Given the description of an element on the screen output the (x, y) to click on. 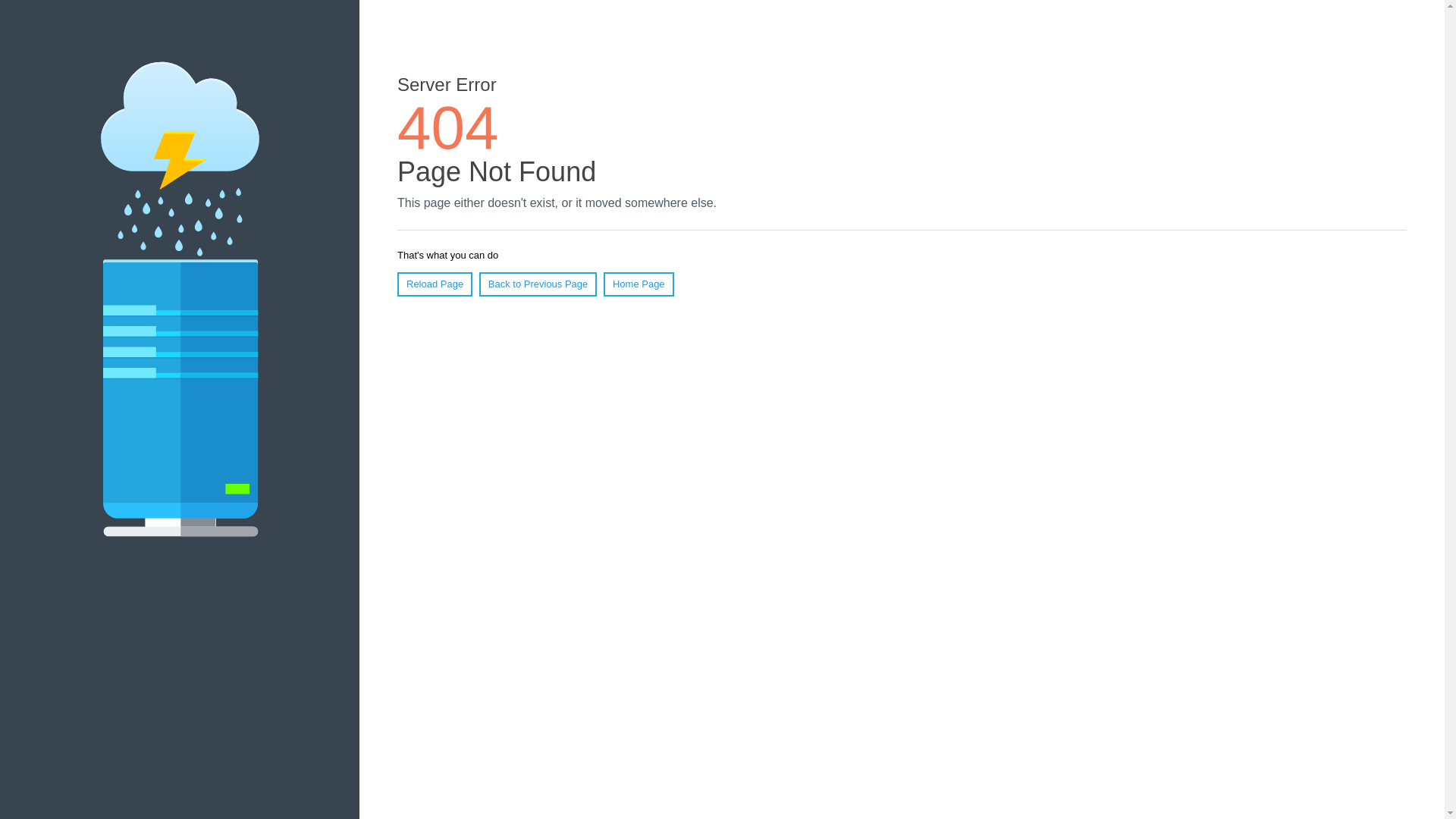
Reload Page Element type: text (434, 284)
Home Page Element type: text (638, 284)
Back to Previous Page Element type: text (538, 284)
